Given the description of an element on the screen output the (x, y) to click on. 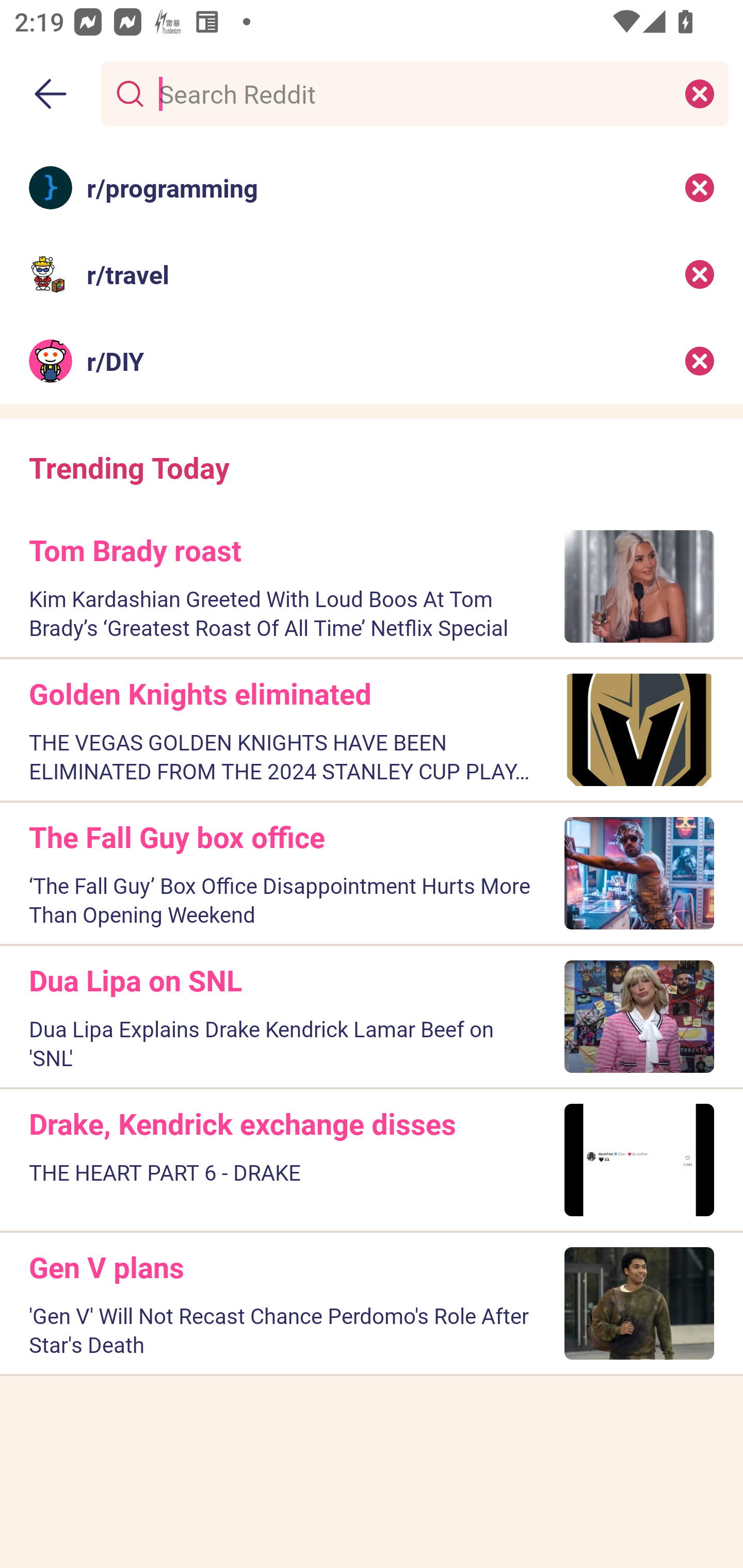
Back (50, 93)
Search Reddit (410, 93)
Clear search (699, 93)
r/programming Recent search: r/programming Remove (371, 187)
Remove (699, 187)
r/travel Recent search: r/travel Remove (371, 274)
Remove (699, 274)
r/DIY Recent search: r/DIY Remove (371, 361)
Remove (699, 361)
